Given the description of an element on the screen output the (x, y) to click on. 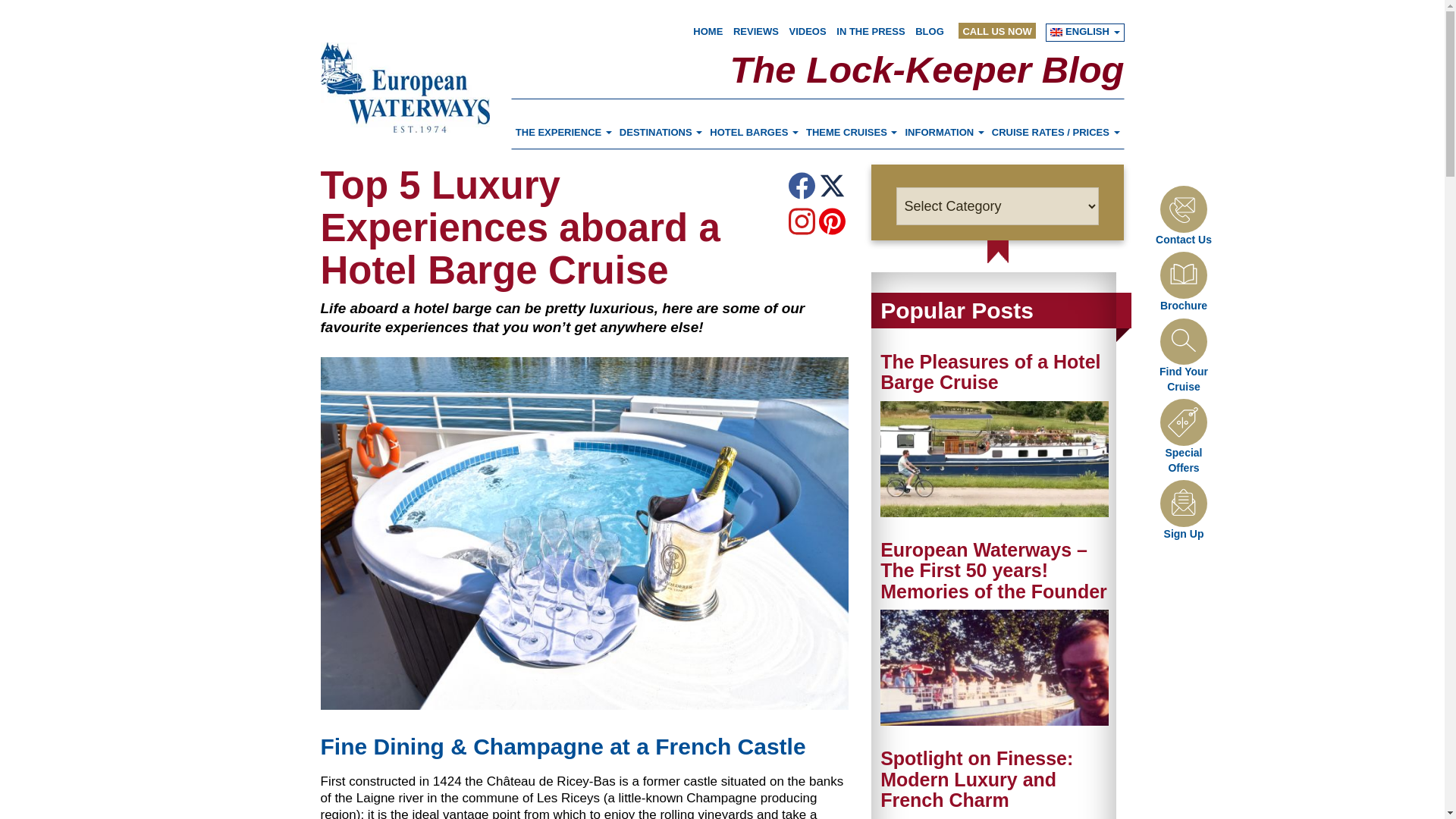
DESTINATIONS (660, 132)
CALL US NOW (996, 30)
IN THE PRESS (869, 30)
VIDEOS (808, 30)
HOME (707, 30)
DESTINATIONS (660, 132)
REVIEWS (755, 30)
THE EXPERIENCE (563, 132)
THE EXPERIENCE (563, 132)
BLOG (929, 30)
ENGLISH (1084, 30)
